Given the description of an element on the screen output the (x, y) to click on. 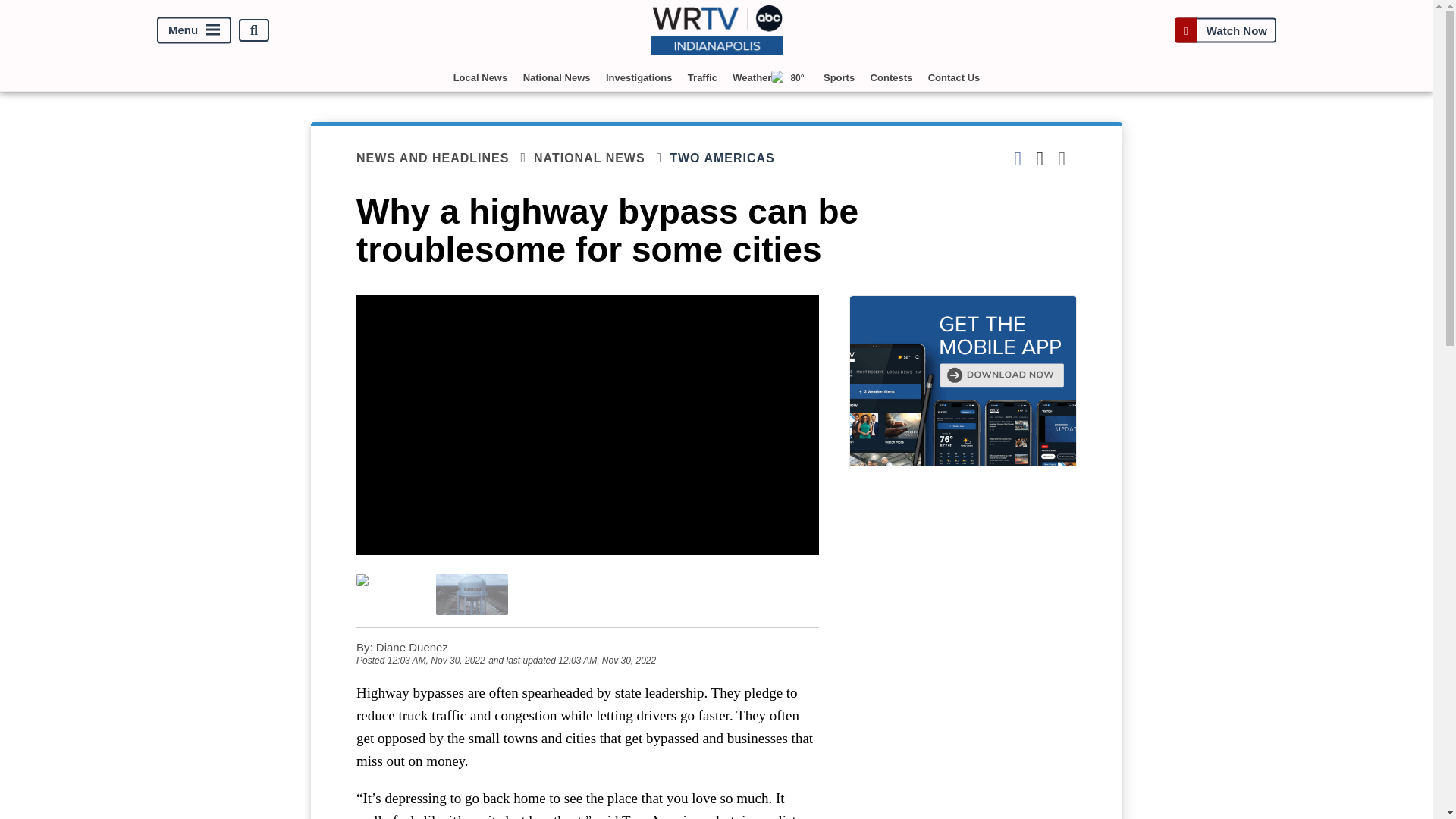
Menu (194, 30)
Watch Now (1224, 30)
